Given the description of an element on the screen output the (x, y) to click on. 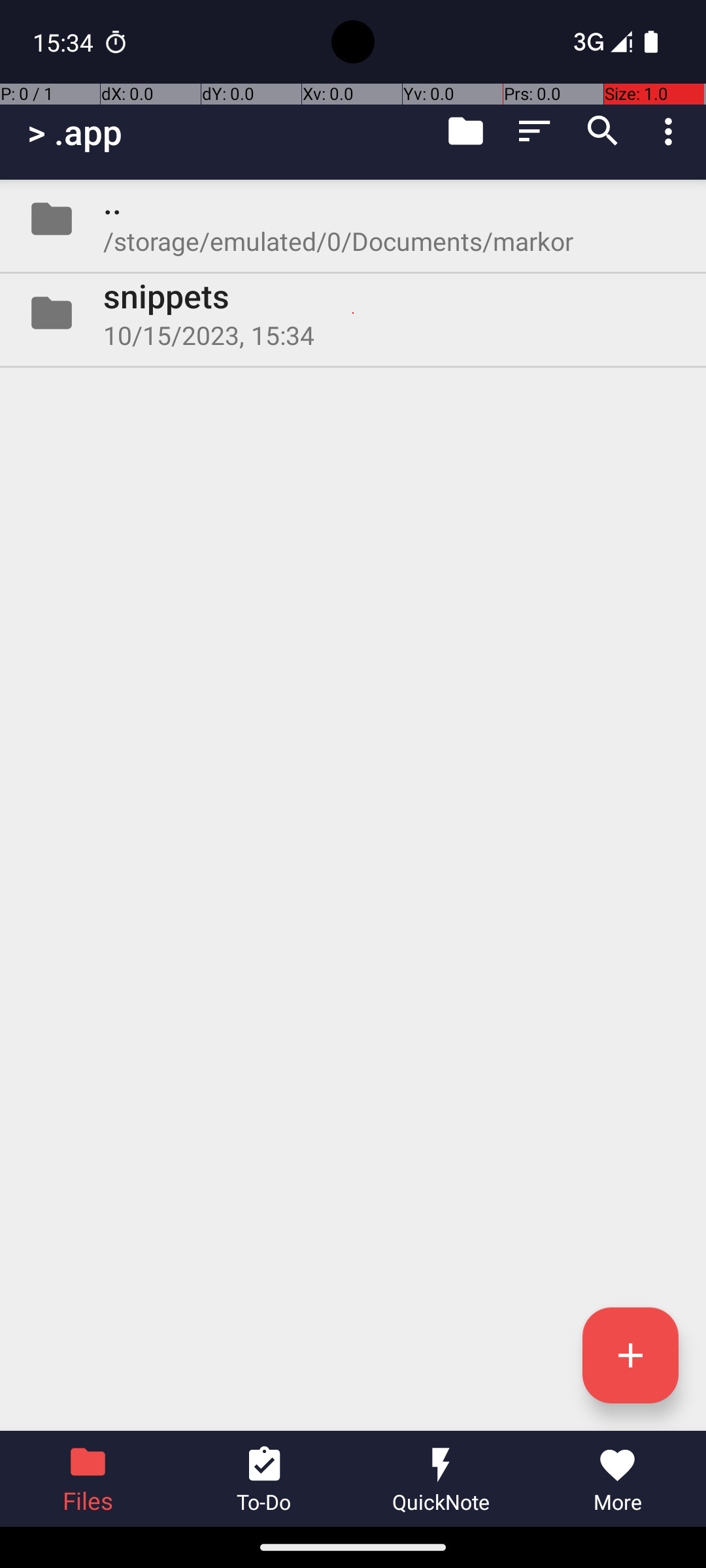
> .app Element type: android.widget.TextView (74, 131)
Folder snippets 10/15/2023, 15:34 Element type: android.widget.LinearLayout (353, 312)
